Given the description of an element on the screen output the (x, y) to click on. 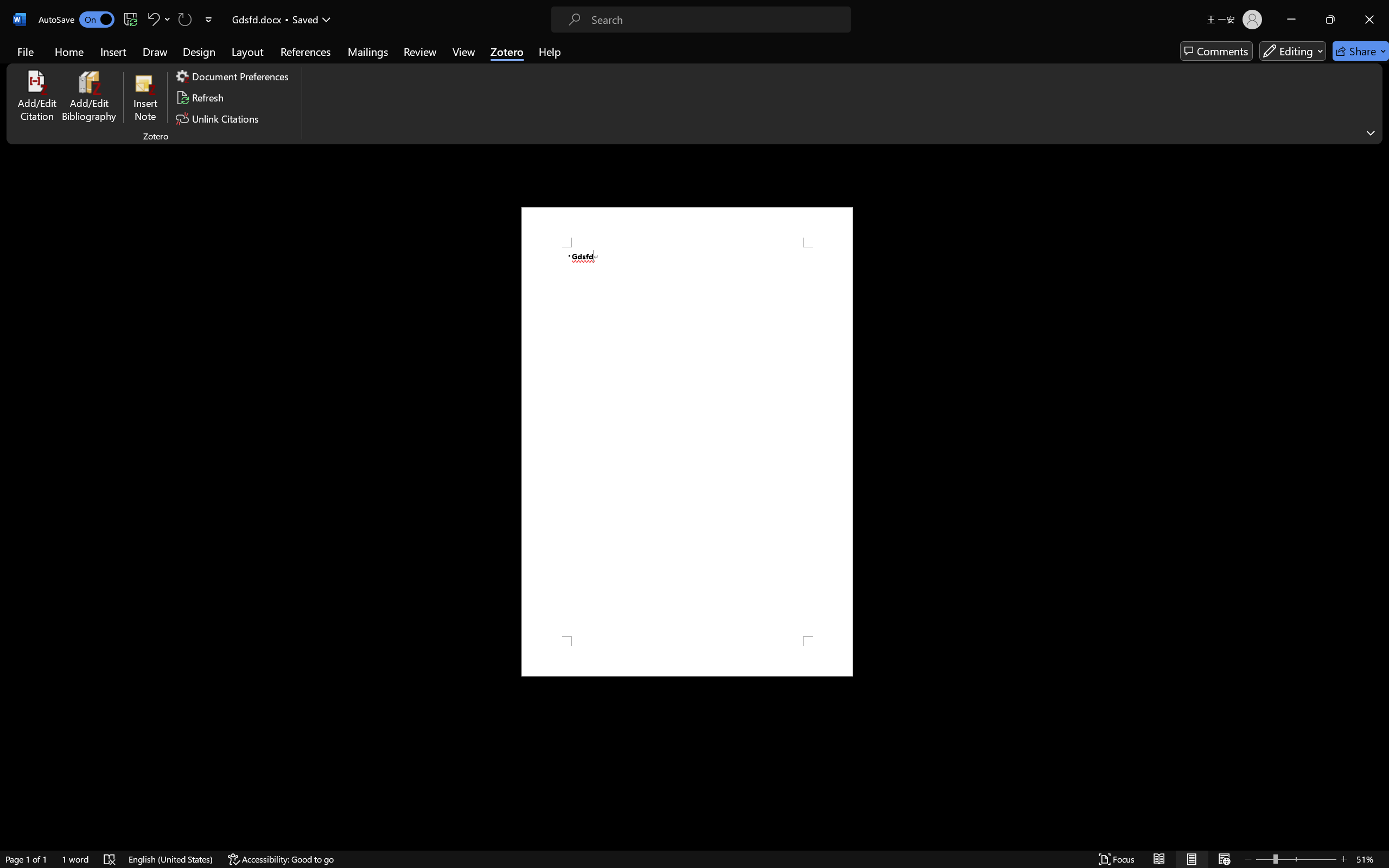
Text Box (518, 48)
Rectangle (562, 48)
Shape Outline Green, Accent 1 (644, 60)
Zoom 78% (1364, 837)
Format Painter (55, 77)
Row up (583, 48)
